Given the description of an element on the screen output the (x, y) to click on. 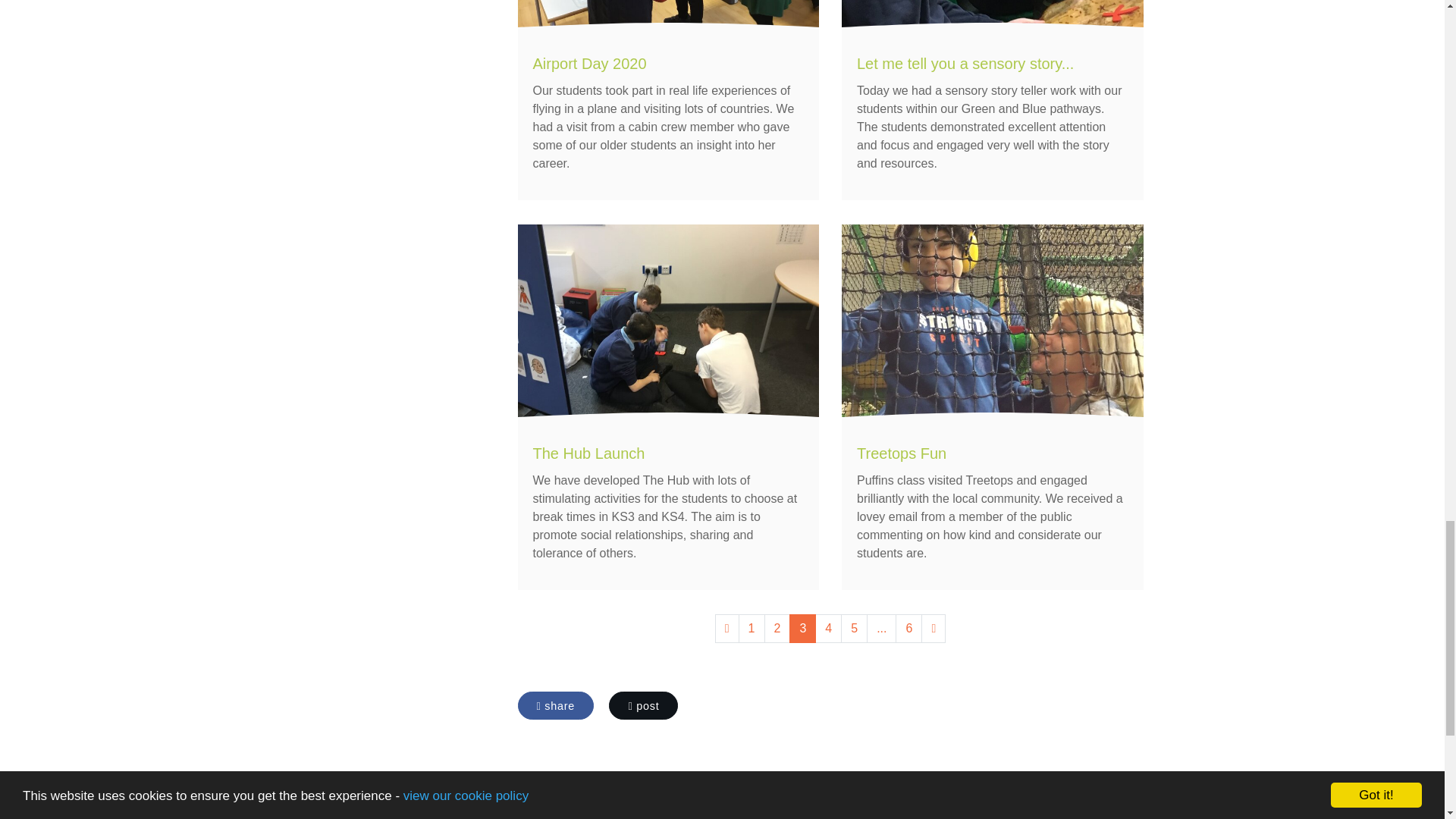
Share on Facebook (555, 705)
Post on X (643, 705)
